Given the description of an element on the screen output the (x, y) to click on. 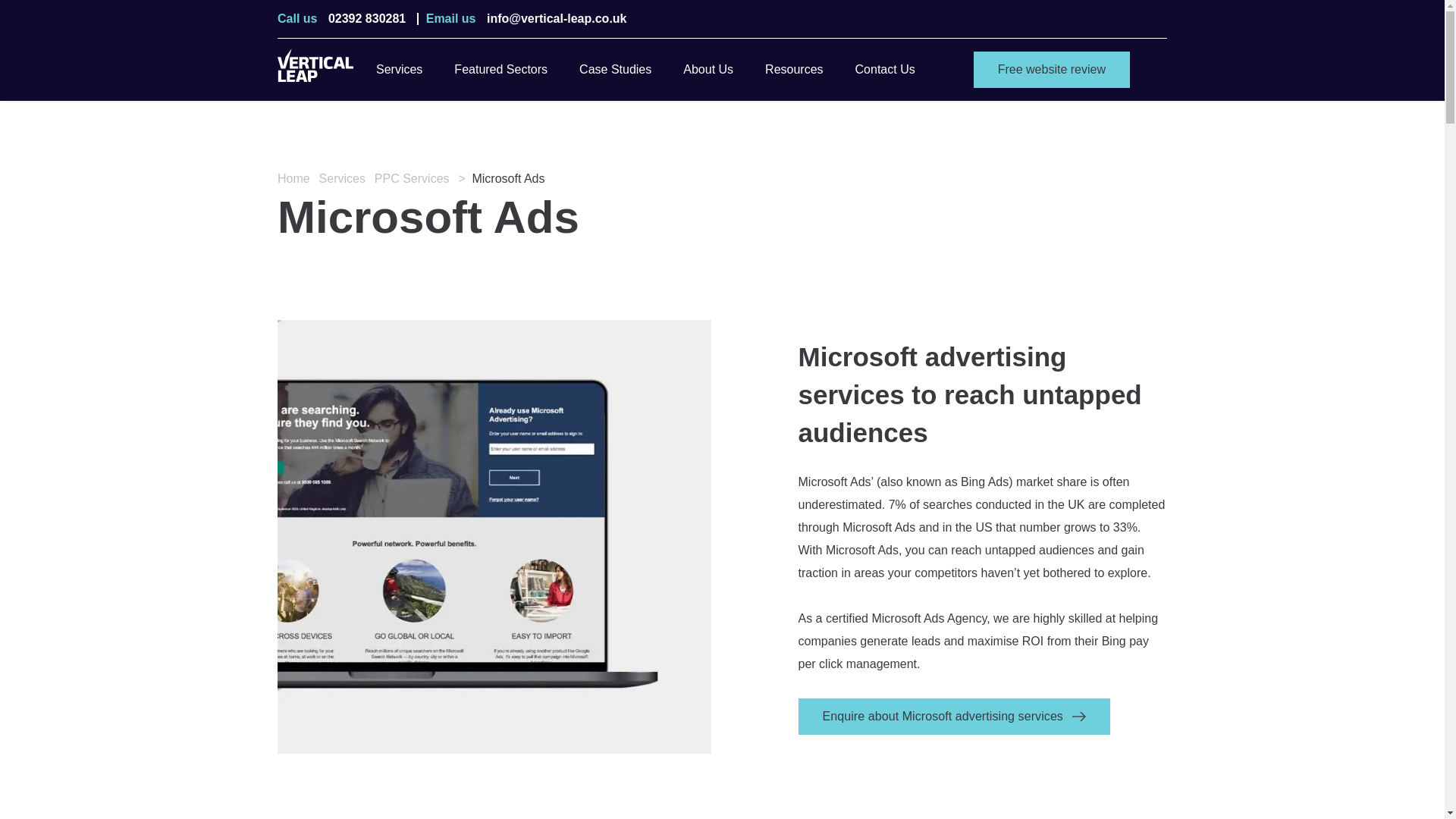
Resources (793, 69)
Visit the Case Studies  Page (614, 69)
Case Studies (614, 69)
02392 830281 (367, 19)
Visit the Vertical Leap home page (315, 69)
Featured Sectors (500, 69)
